Given the description of an element on the screen output the (x, y) to click on. 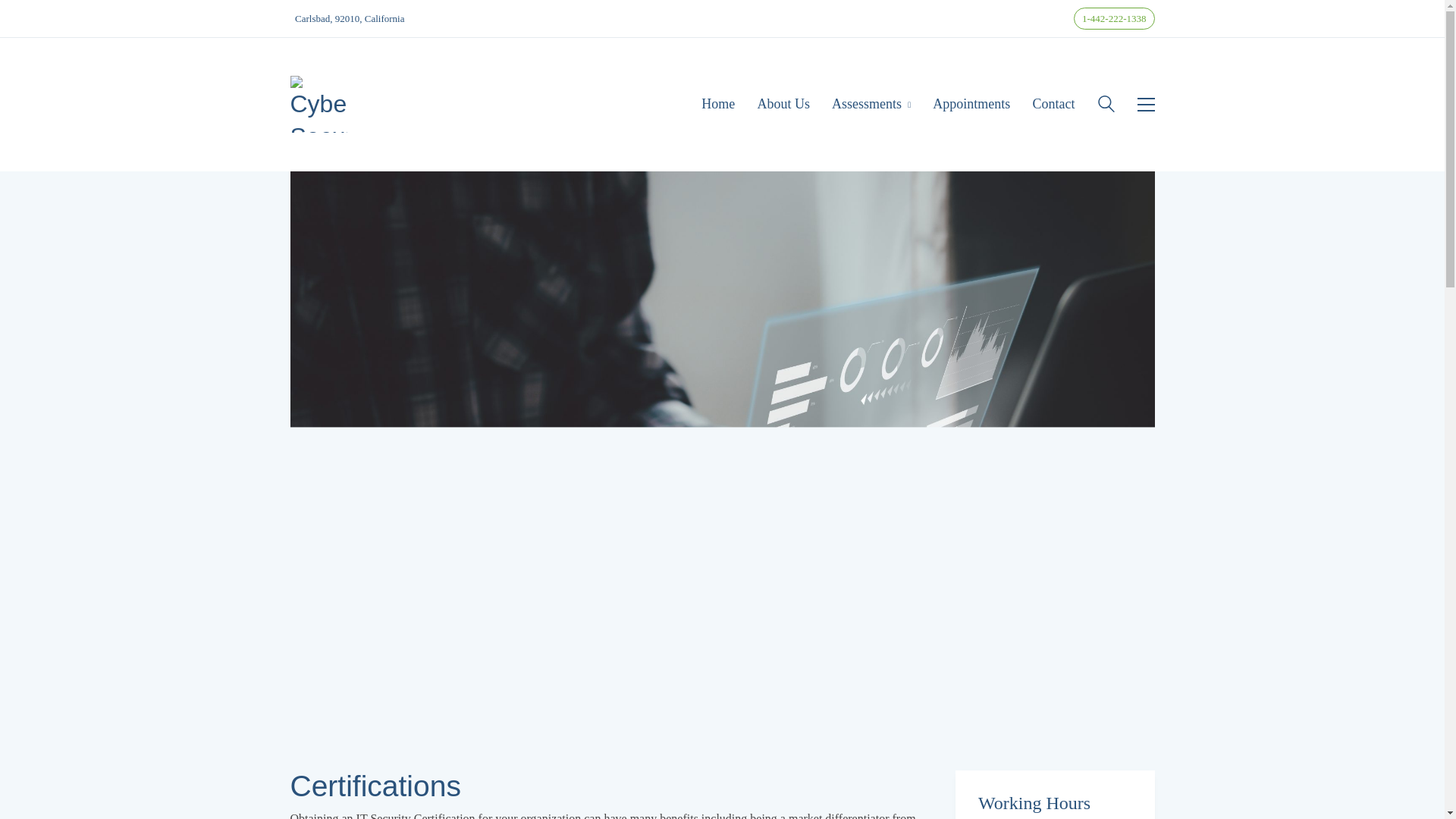
1-442-222-1338 (1114, 18)
About Us (783, 104)
Appointments (971, 104)
Contact (1053, 104)
Home (718, 104)
Assessments (871, 104)
Carlsbad, 92010, California (349, 18)
